Given the description of an element on the screen output the (x, y) to click on. 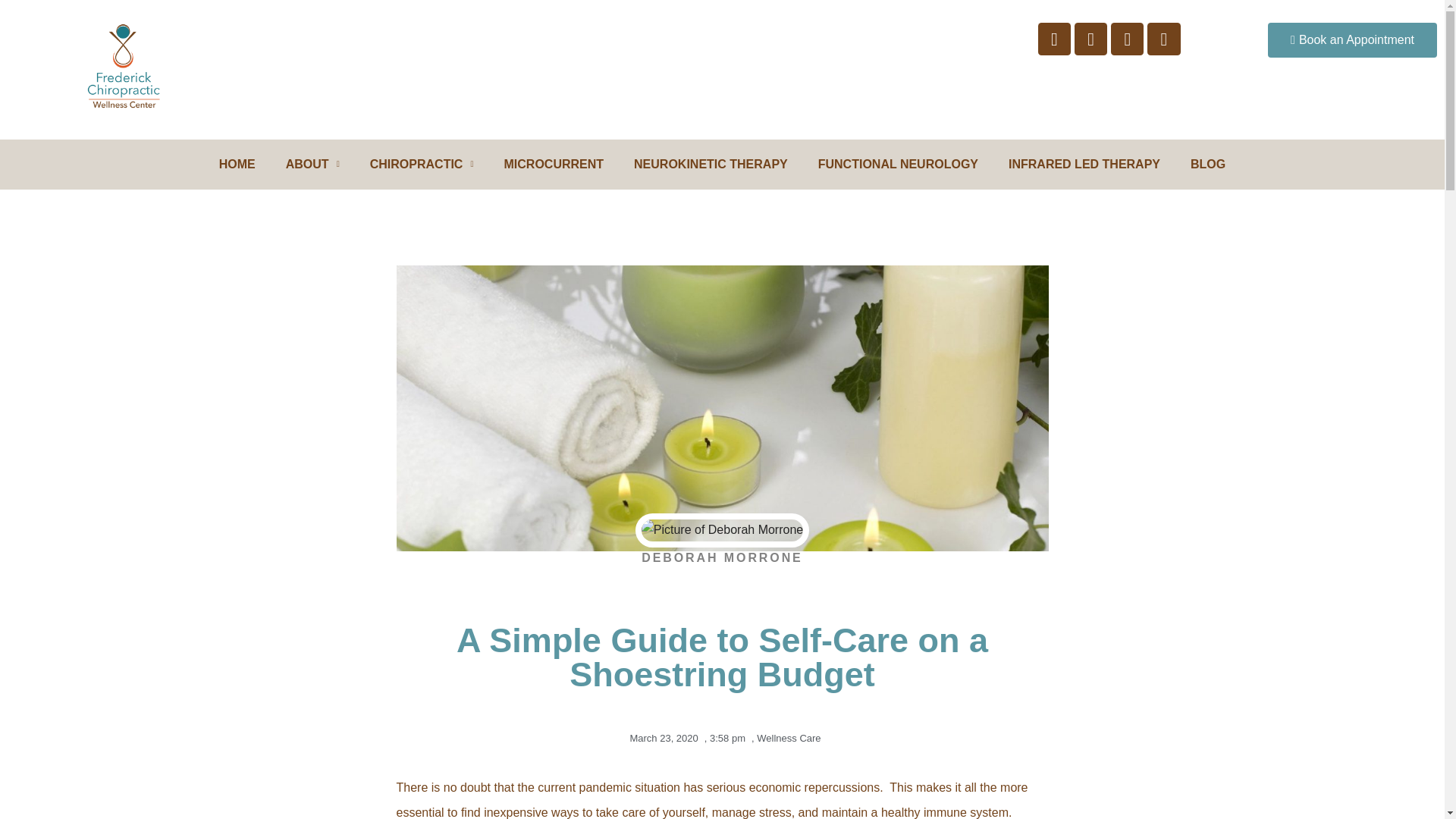
INFRARED LED THERAPY (1083, 164)
Book an Appointment (1352, 39)
MICROCURRENT (552, 164)
NEUROKINETIC THERAPY (710, 164)
FUNCTIONAL NEUROLOGY (897, 164)
ABOUT (312, 164)
CHIROPRACTIC (422, 164)
HOME (236, 164)
BLOG (1207, 164)
